Given the description of an element on the screen output the (x, y) to click on. 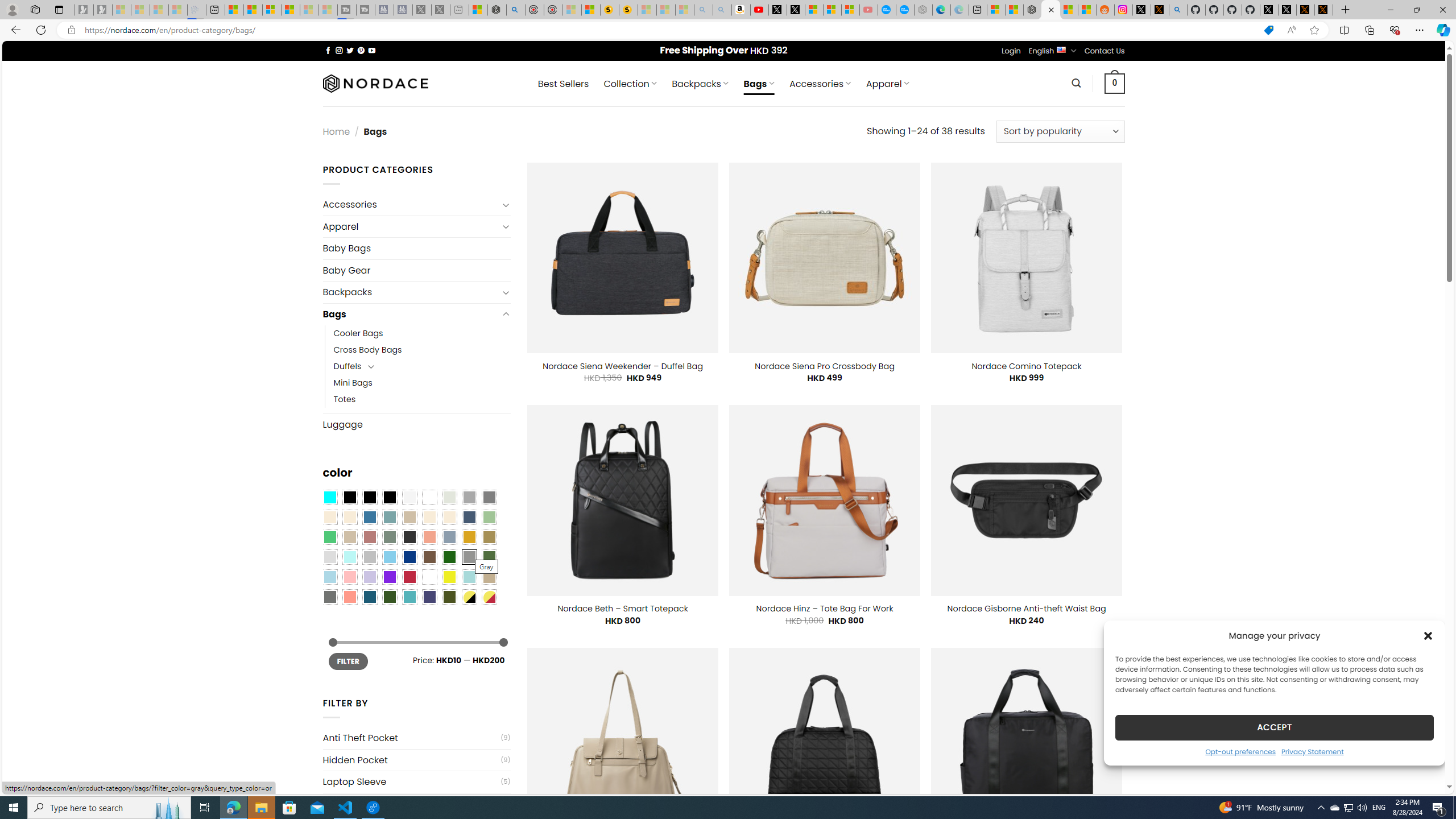
Baby Gear (416, 270)
Gold (468, 536)
Duffels (347, 366)
Bags (410, 314)
Privacy Statement (1312, 750)
Beige (329, 517)
English (1061, 49)
Light Blue (329, 577)
Dull Nickle (329, 596)
Blue (369, 517)
